Given the description of an element on the screen output the (x, y) to click on. 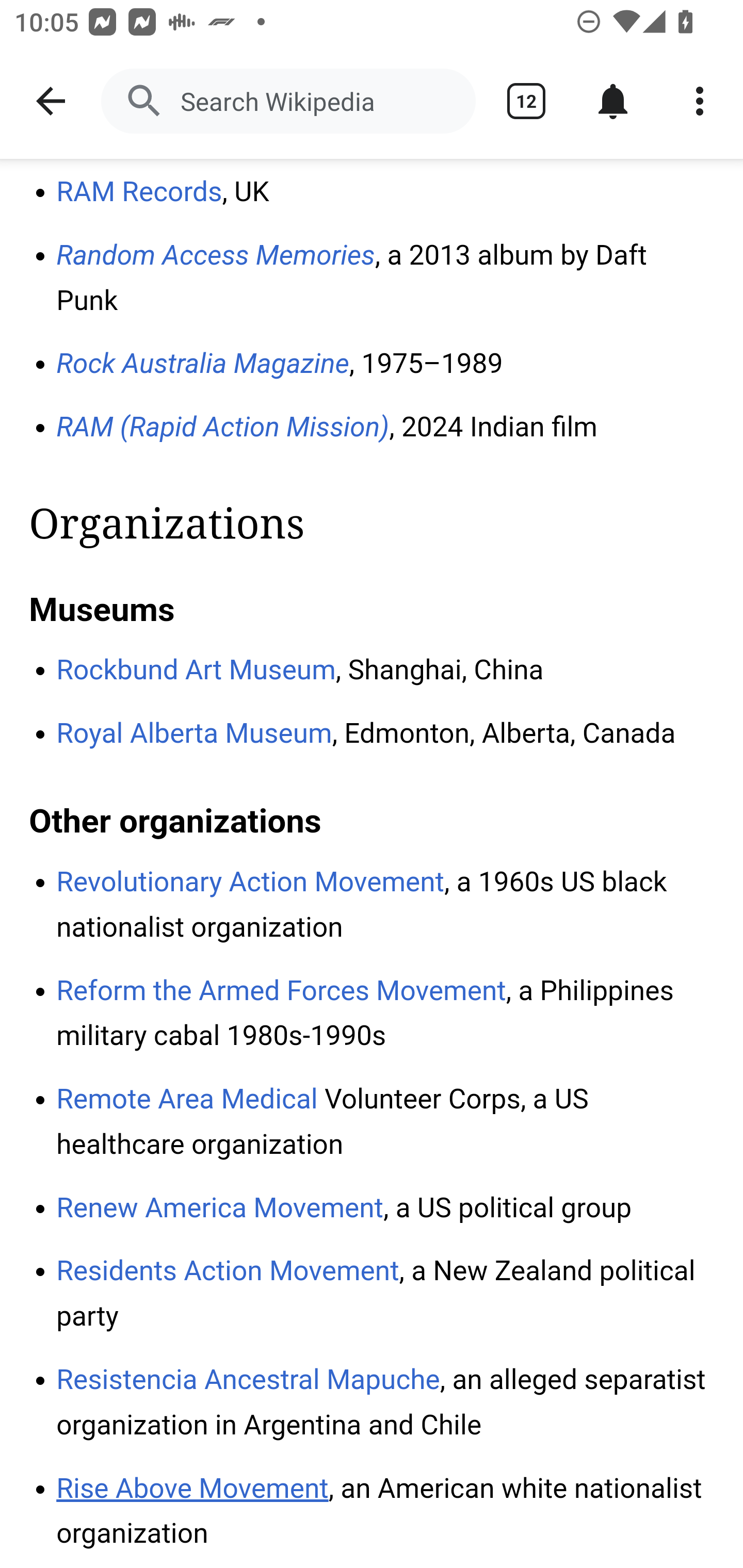
Show tabs 12 (525, 100)
Notifications (612, 100)
Navigate up (50, 101)
More options (699, 101)
Search Wikipedia (288, 100)
RAM Records (139, 192)
Random Access Memories (215, 255)
Rock Australia Magazine (202, 365)
RAM (Rapid Action Mission) (222, 427)
Rockbund Art Museum (196, 669)
Royal Alberta Museum (194, 733)
Revolutionary Action Movement (250, 882)
Reform the Armed Forces Movement (281, 991)
Remote Area Medical (187, 1099)
Renew America Movement (219, 1208)
Residents Action Movement (228, 1271)
Resistencia Ancestral Mapuche (247, 1379)
Rise Above Movement (192, 1487)
